Given the description of an element on the screen output the (x, y) to click on. 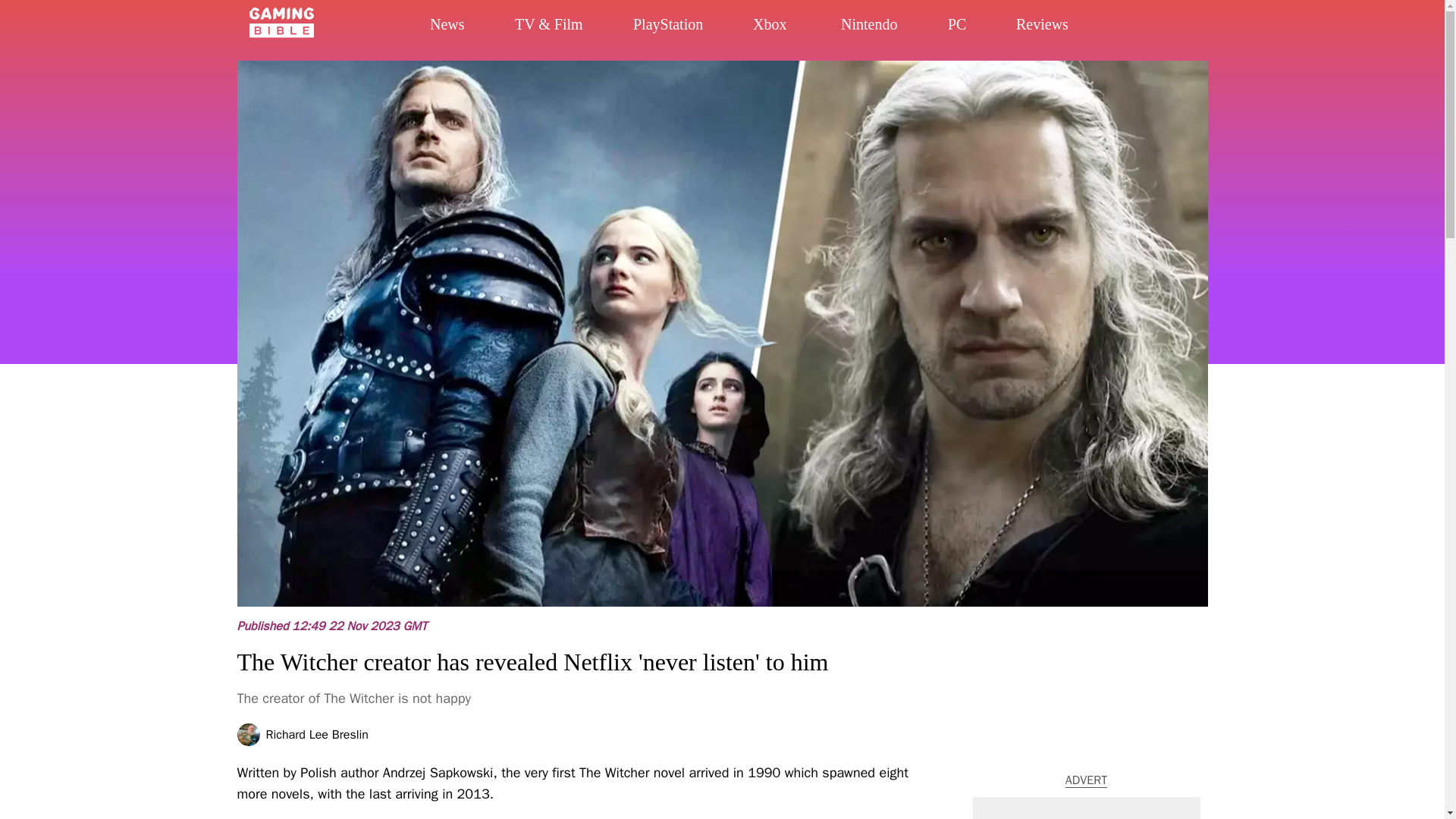
Richard Lee Breslin (316, 734)
PlayStation (703, 30)
Xbox (786, 31)
News (468, 28)
